Given the description of an element on the screen output the (x, y) to click on. 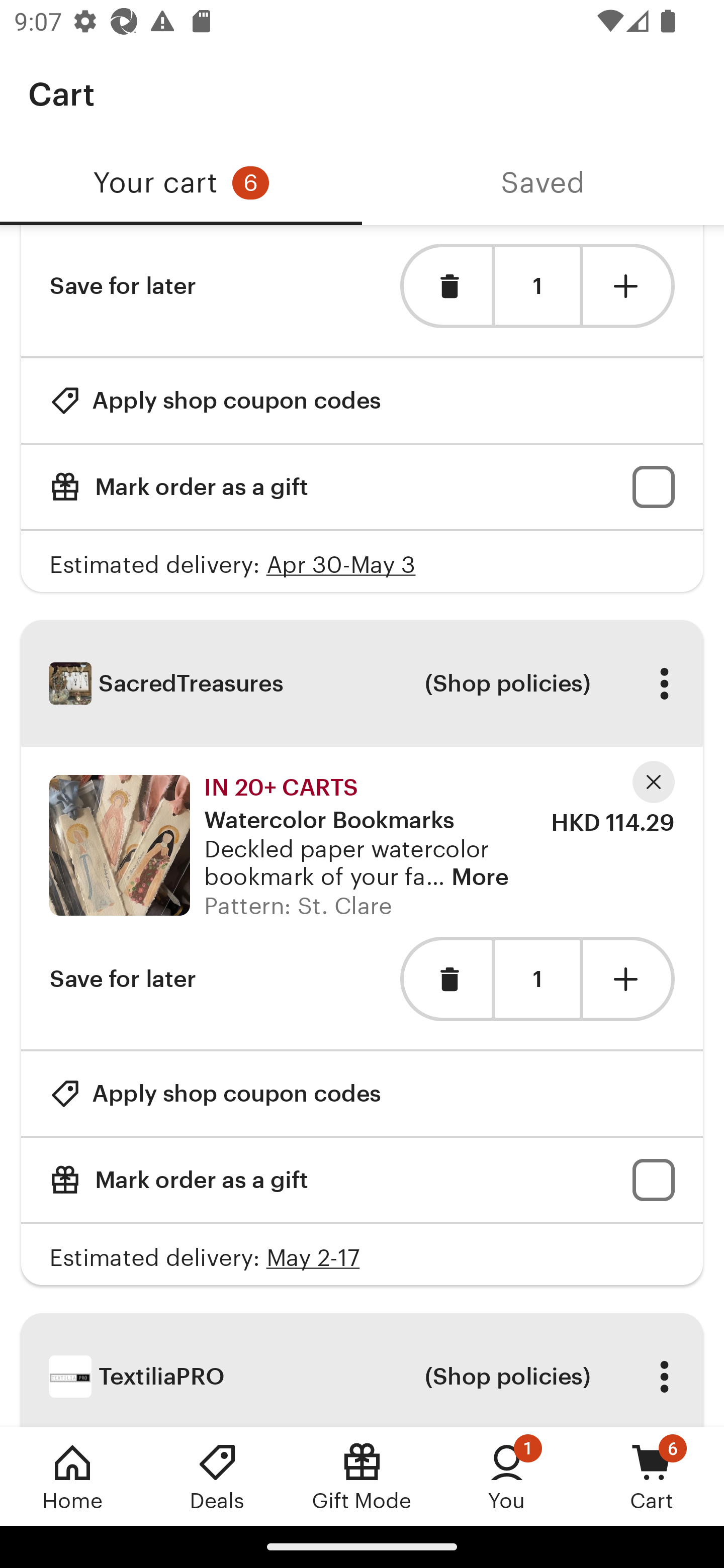
Saved, tab 2 of 2 Saved (543, 183)
Save for later (122, 285)
Remove item from cart (445, 285)
Add one unit to cart (628, 285)
1 (537, 286)
Apply shop coupon codes (215, 400)
Mark order as a gift (361, 487)
SacredTreasures (Shop policies) More options (361, 683)
(Shop policies) (507, 683)
More options (663, 683)
Watercolor Bookmarks (119, 844)
Save for later (122, 978)
Remove item from cart (445, 978)
Add one unit to cart (628, 978)
1 (537, 979)
Apply shop coupon codes (215, 1093)
Mark order as a gift (361, 1179)
TextiliaPRO (Shop policies) More options (361, 1369)
(Shop policies) (507, 1376)
More options (663, 1376)
Home (72, 1475)
Deals (216, 1475)
Gift Mode (361, 1475)
You, 1 new notification You (506, 1475)
